Given the description of an element on the screen output the (x, y) to click on. 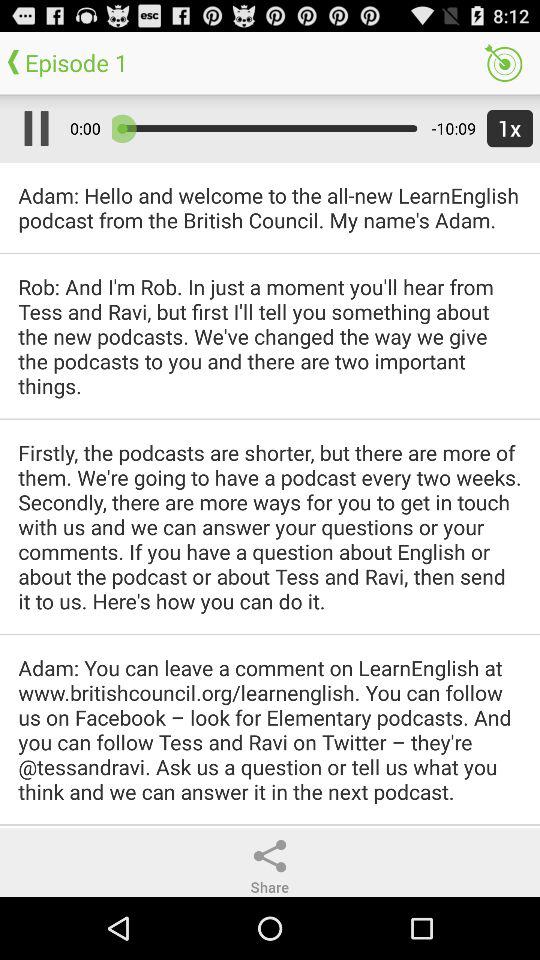
share article (270, 856)
